Given the description of an element on the screen output the (x, y) to click on. 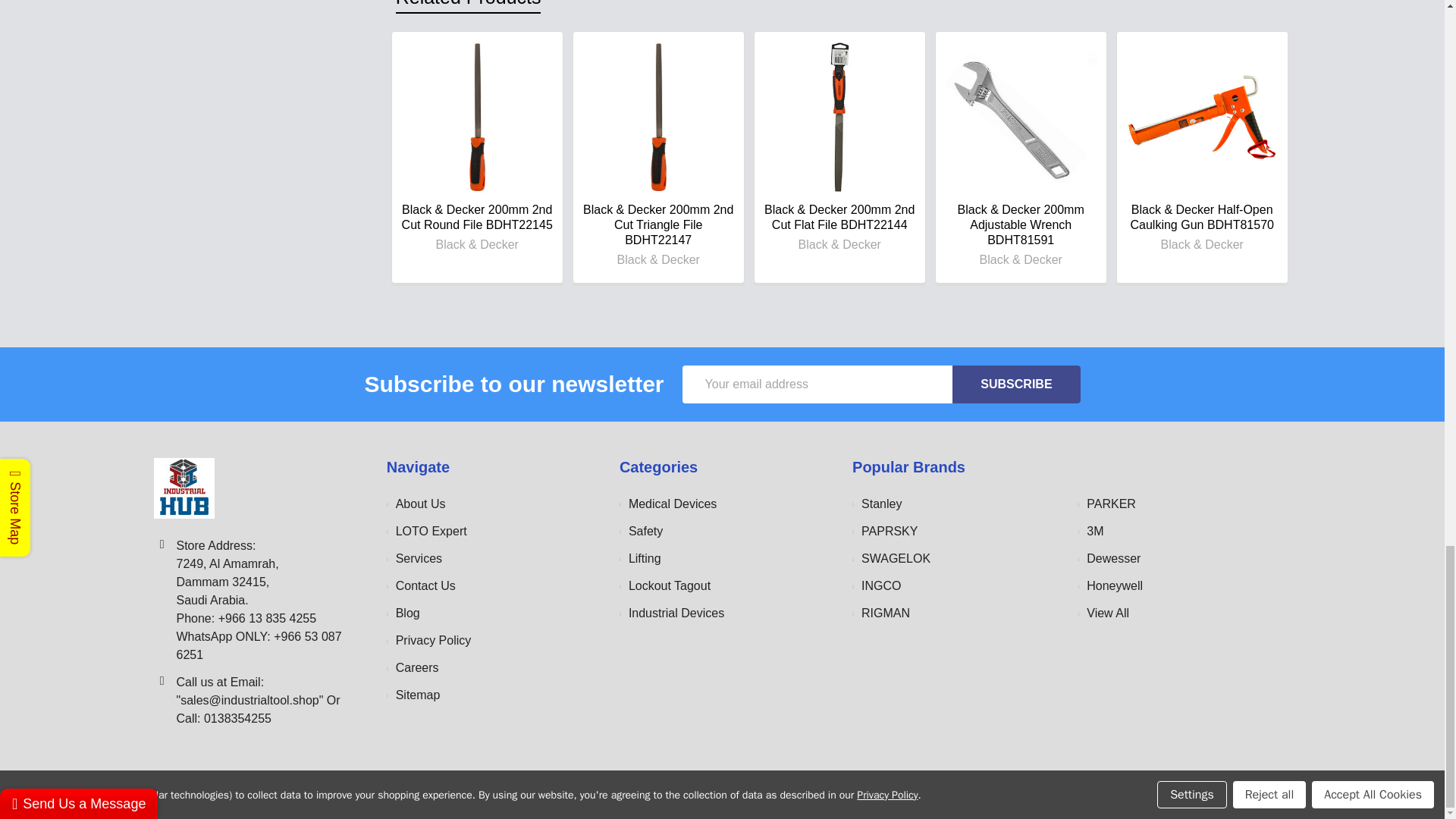
Subscribe (1016, 383)
